Given the description of an element on the screen output the (x, y) to click on. 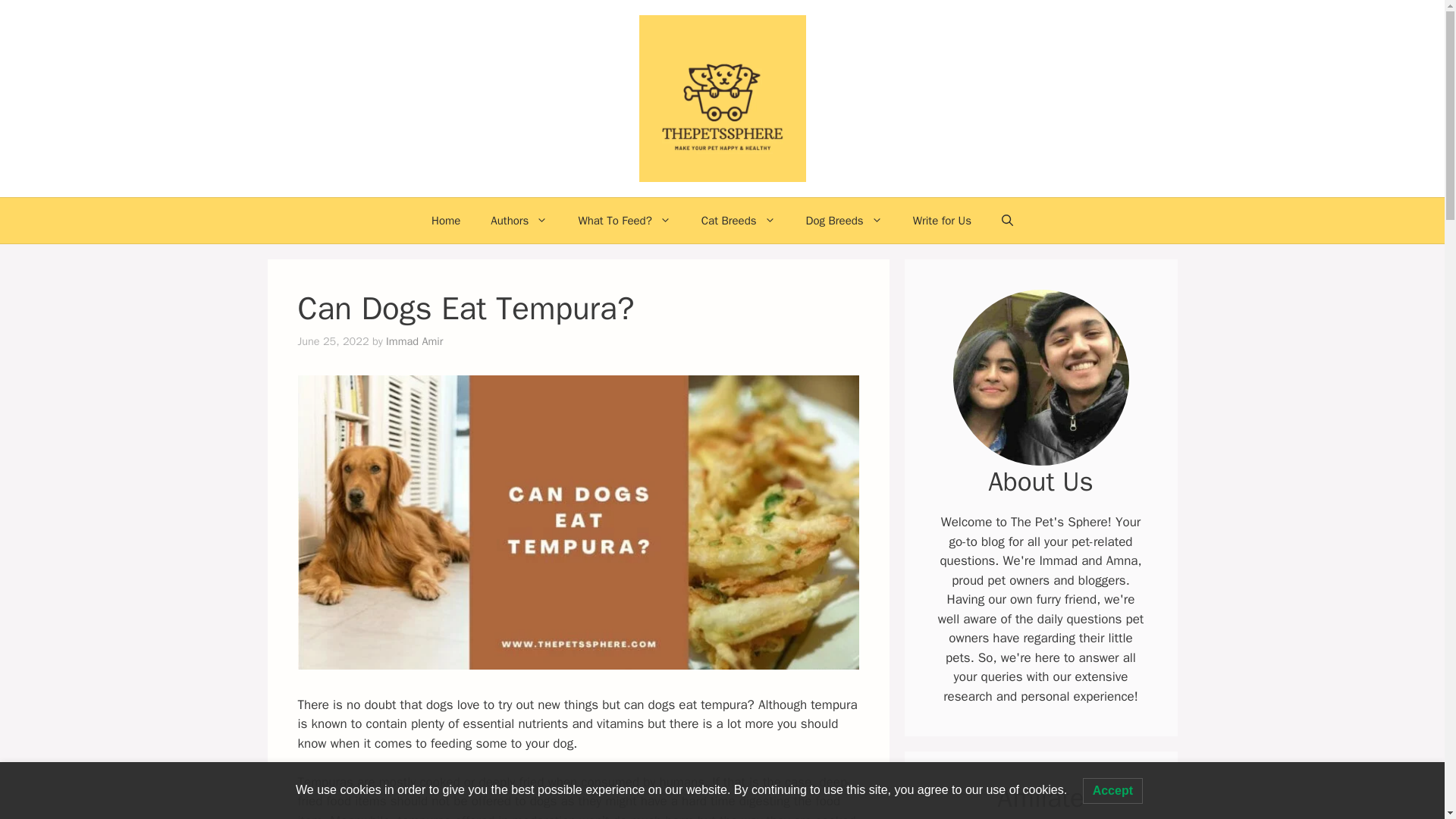
Authors (519, 220)
Write for Us (942, 220)
What To Feed? (623, 220)
Immad Amir (413, 341)
Home (446, 220)
Cat Breeds (737, 220)
View all posts by Immad Amir (413, 341)
Dog Breeds (844, 220)
